Given the description of an element on the screen output the (x, y) to click on. 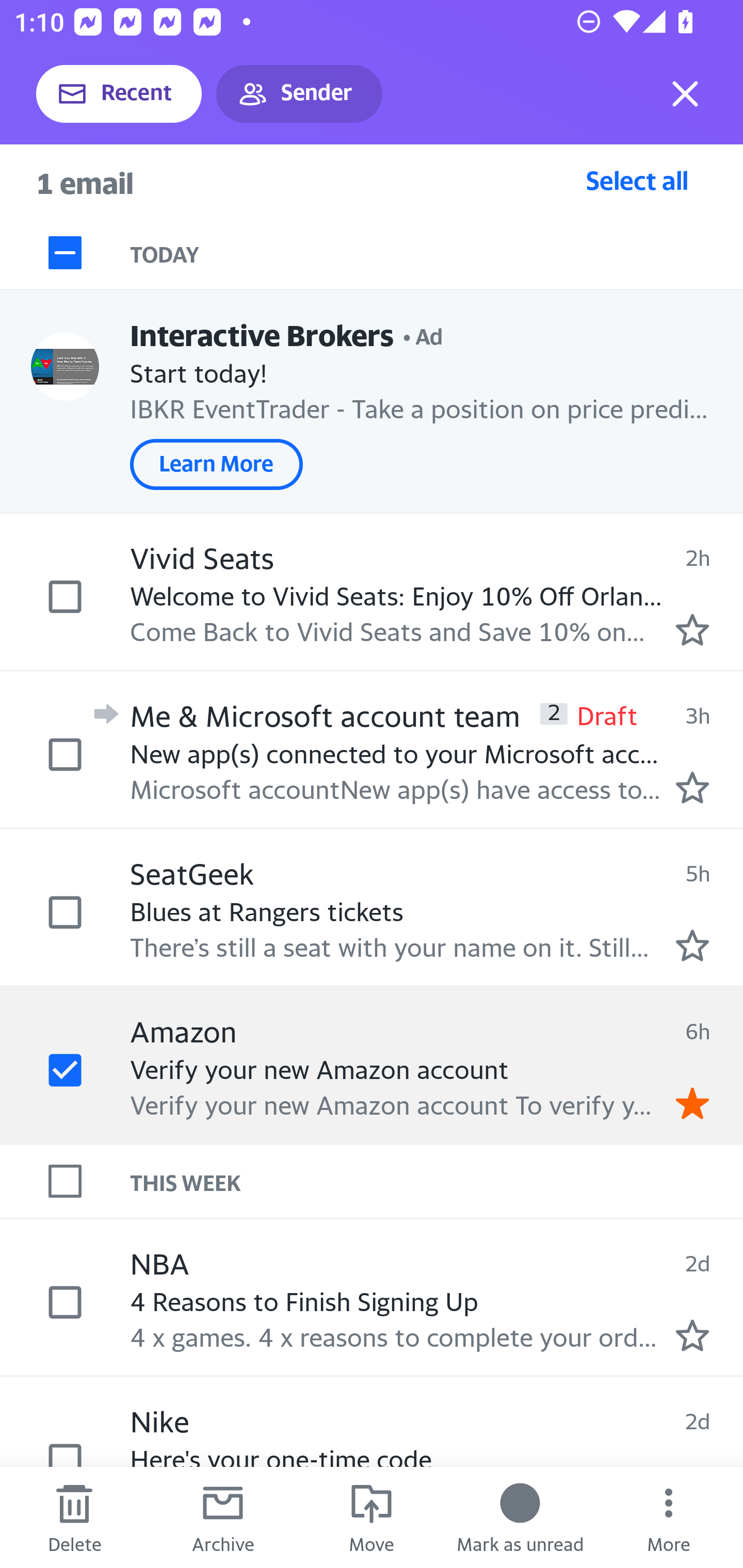
Sender (299, 93)
Exit selection mode (684, 93)
Select all (637, 180)
TODAY (436, 252)
Mark as starred. (692, 629)
Mark as starred. (692, 787)
Mark as starred. (692, 944)
Remove star. (692, 1103)
THIS WEEK (436, 1181)
Mark as starred. (692, 1335)
Delete (74, 1517)
Archive (222, 1517)
Move (371, 1517)
Mark as unread (519, 1517)
More (668, 1517)
